Given the description of an element on the screen output the (x, y) to click on. 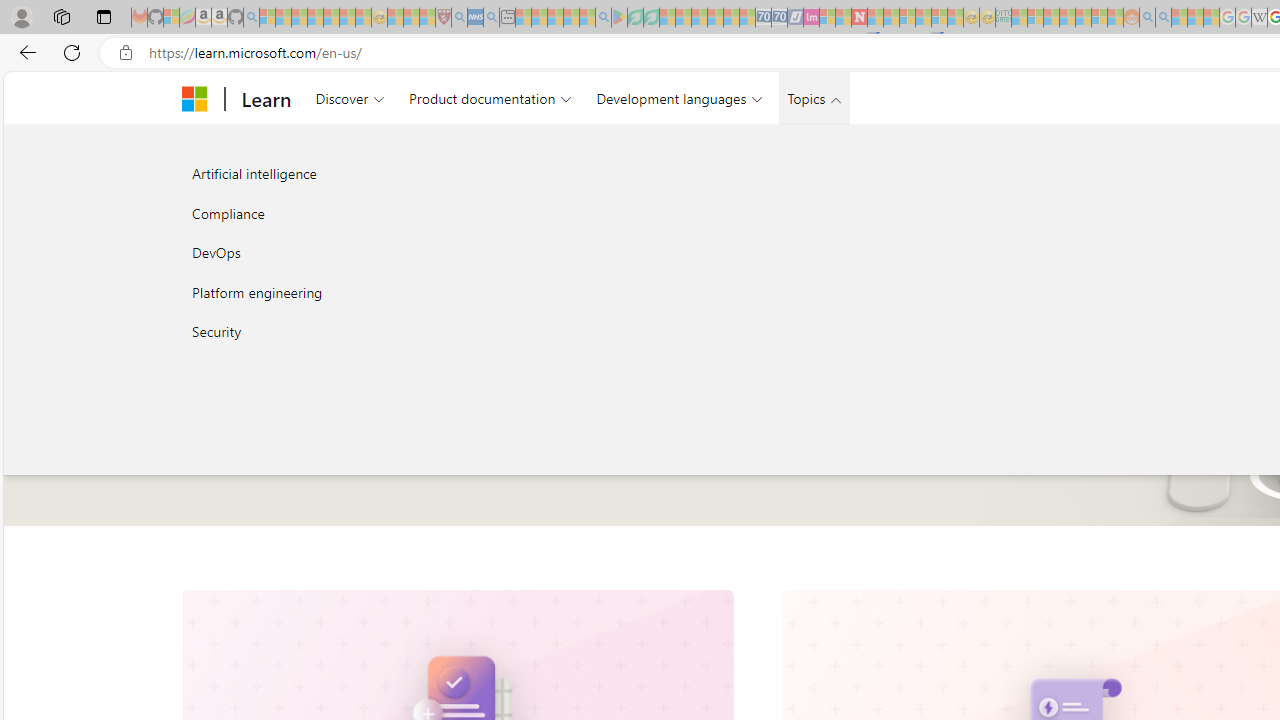
Topics (815, 98)
Platform engineering (394, 291)
DevOps (394, 252)
Product documentation (490, 98)
